Given the description of an element on the screen output the (x, y) to click on. 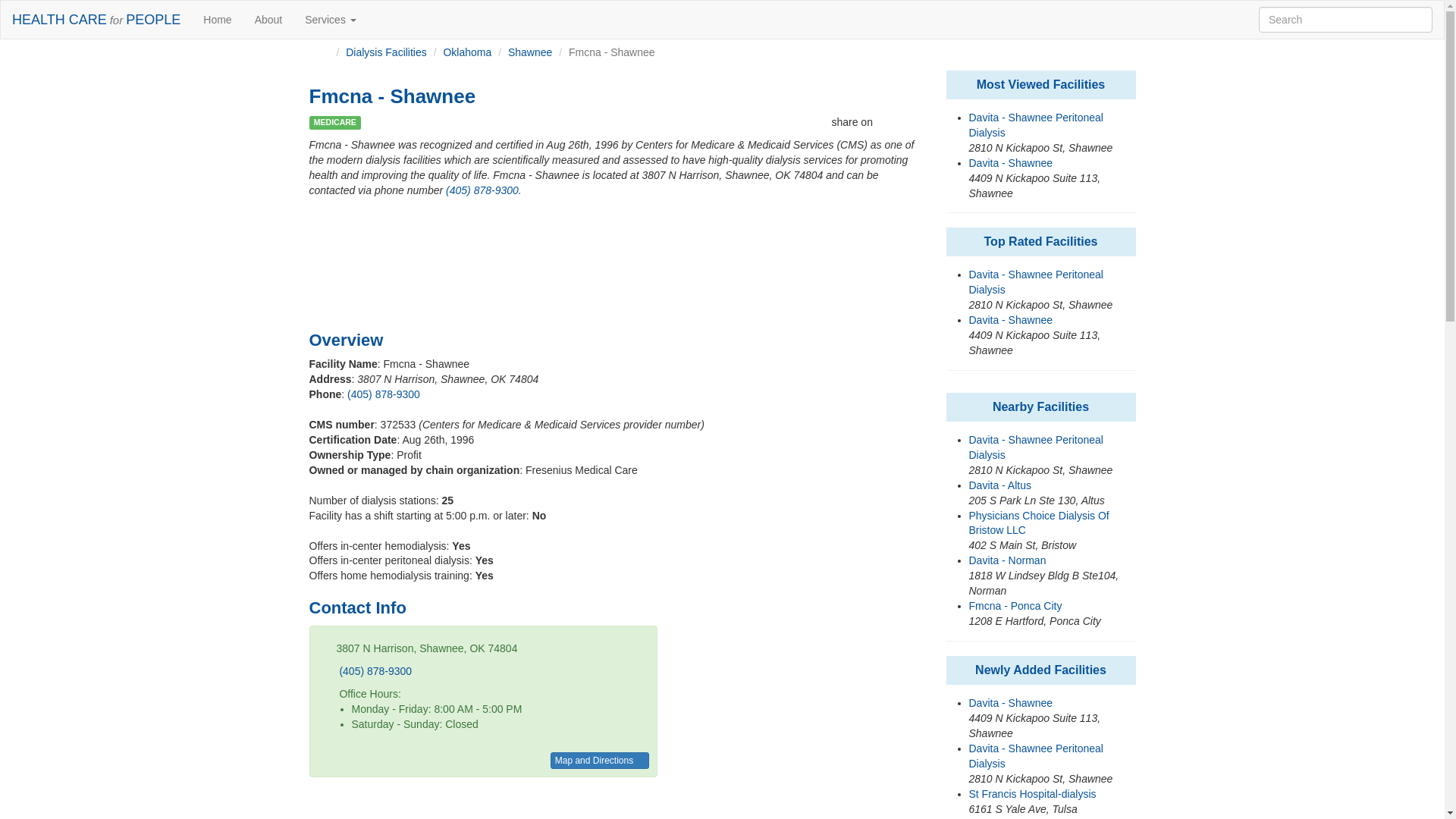
Davita - Shawnee Peritoneal Dialysis (1036, 281)
About (268, 19)
Services (331, 19)
Physicians Choice Dialysis Of Bristow LLC (1039, 523)
Fmcna - Ponca City (1015, 605)
Davita - Altus (999, 485)
Map and Directions (599, 760)
Dialysis Facilities (386, 51)
Davita - Shawnee (1010, 162)
Davita - Shawnee Peritoneal Dialysis (1036, 124)
